Given the description of an element on the screen output the (x, y) to click on. 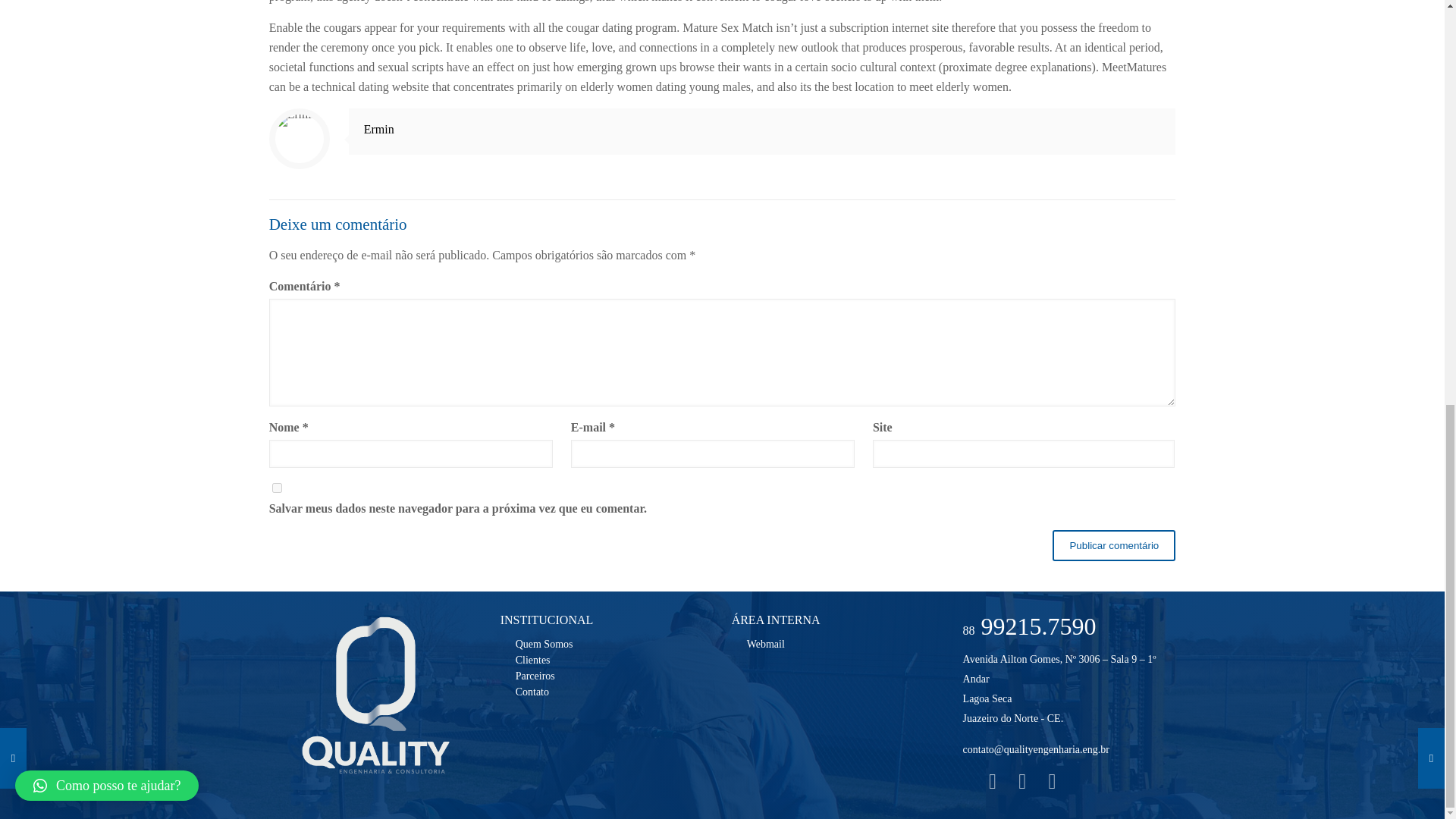
Clientes (532, 659)
Parceiros (534, 675)
Contato (531, 691)
Webmail (765, 644)
Quem Somos (544, 644)
Ermin (379, 128)
yes (277, 488)
